Given the description of an element on the screen output the (x, y) to click on. 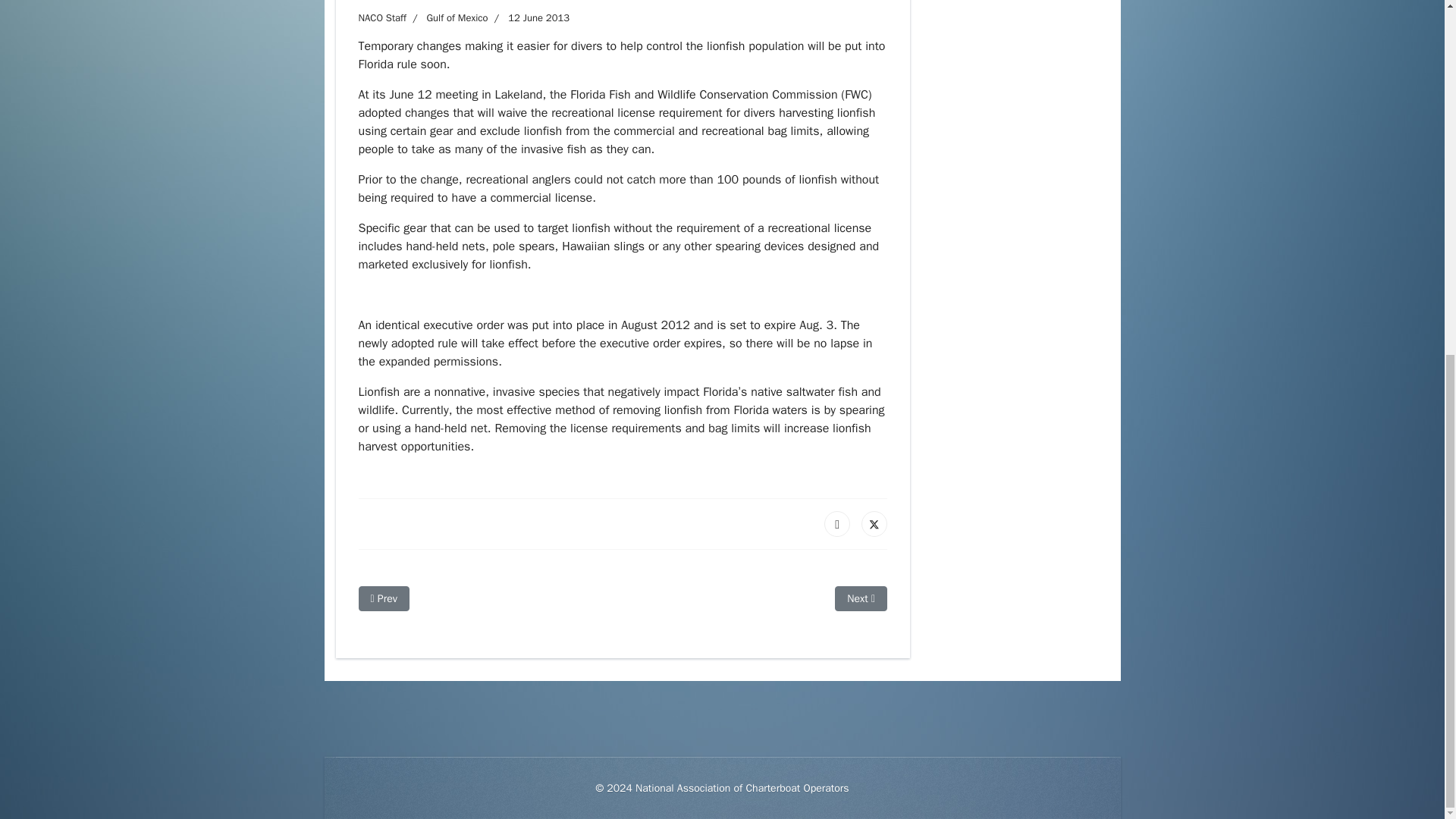
Published: 12 June 2013 (528, 17)
Facebook (837, 524)
Written by: NACO Staff (382, 17)
Category: Gulf of Mexico  (446, 17)
